Given the description of an element on the screen output the (x, y) to click on. 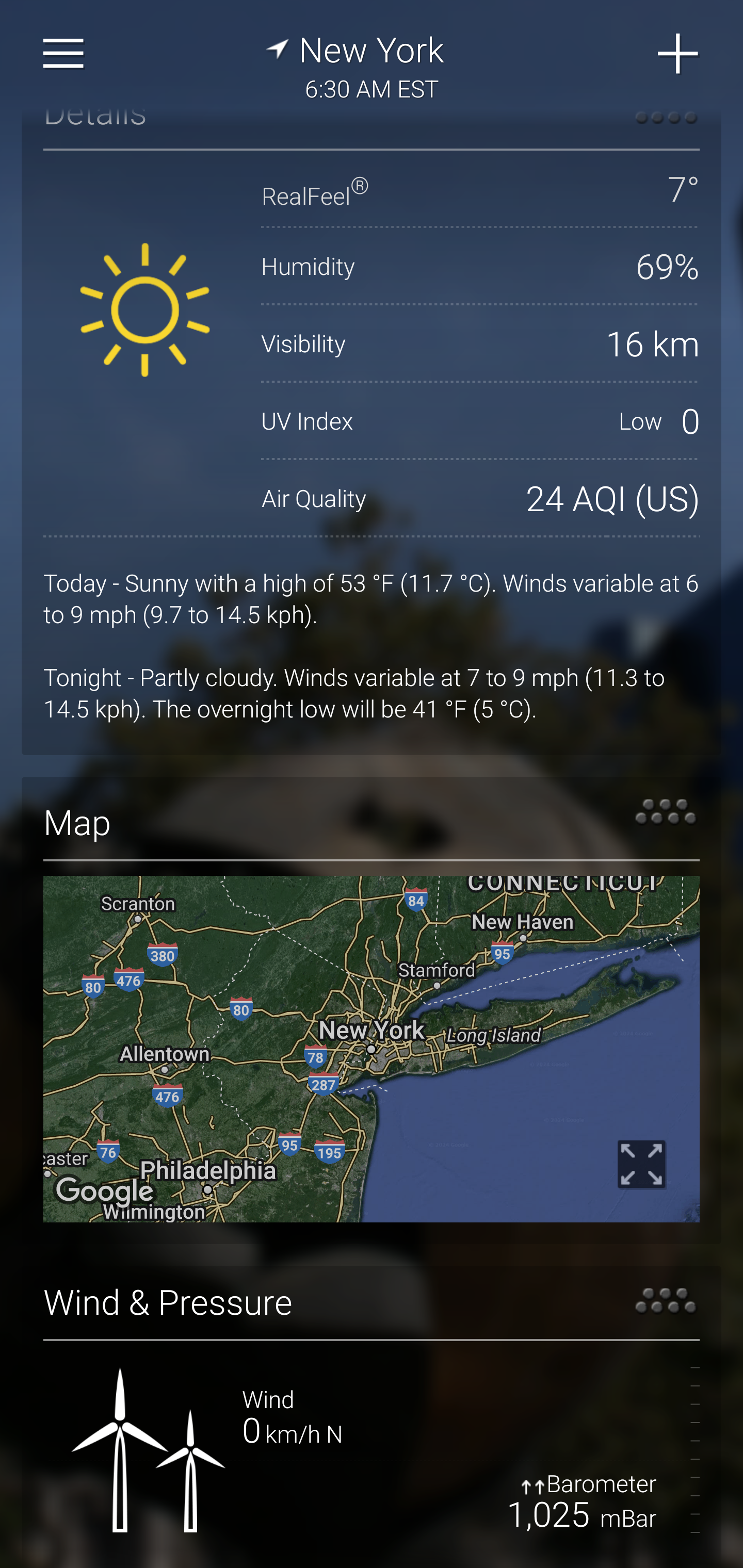
Sidebar (64, 54)
Add City (678, 53)
Google Map (371, 1049)
